Given the description of an element on the screen output the (x, y) to click on. 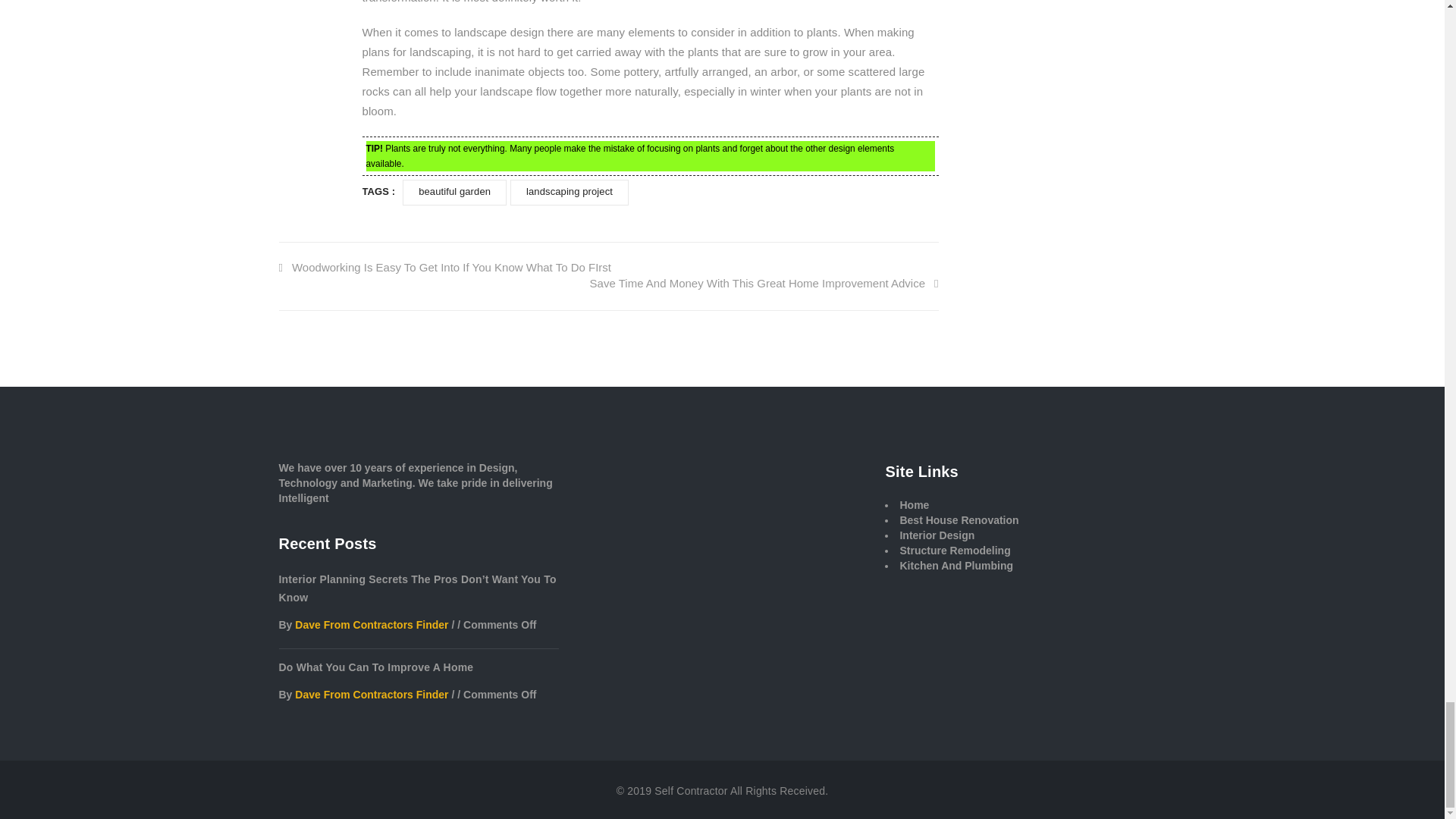
Save Time And Money With This Great Home Improvement Advice (764, 282)
Woodworking Is Easy To Get Into If You Know What To Do FIrst (445, 267)
Woodworking Is Easy To Get Into If You Know What To Do FIrst (445, 267)
landscaping project (569, 192)
beautiful garden (454, 192)
Save Time And Money With This Great Home Improvement Advice (764, 282)
